Given the description of an element on the screen output the (x, y) to click on. 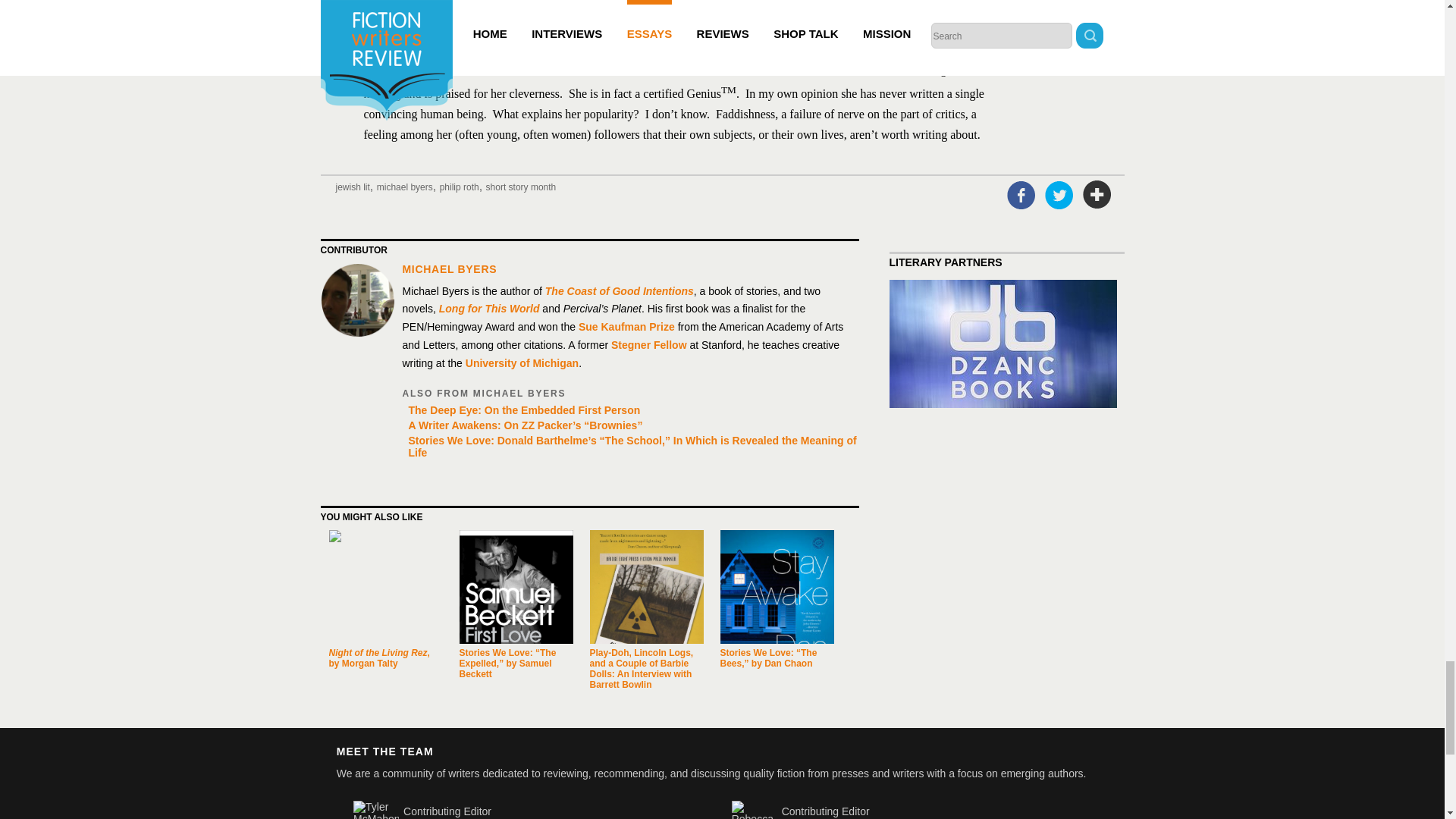
Sue Kaufman Prize (626, 326)
Long for This World (489, 308)
Share on Facebook (1021, 194)
Night of the Living Rez, by Morgan Talty (385, 586)
short story month (521, 186)
MICHAEL BYERS (448, 268)
michael byers (404, 186)
Night of the Living Rez, by Morgan Talty (379, 658)
The Deep Eye: On the Embedded First Person (630, 409)
philip roth (459, 186)
The Coast of Good Intentions (619, 291)
University of Michigan (521, 363)
